Given the description of an element on the screen output the (x, y) to click on. 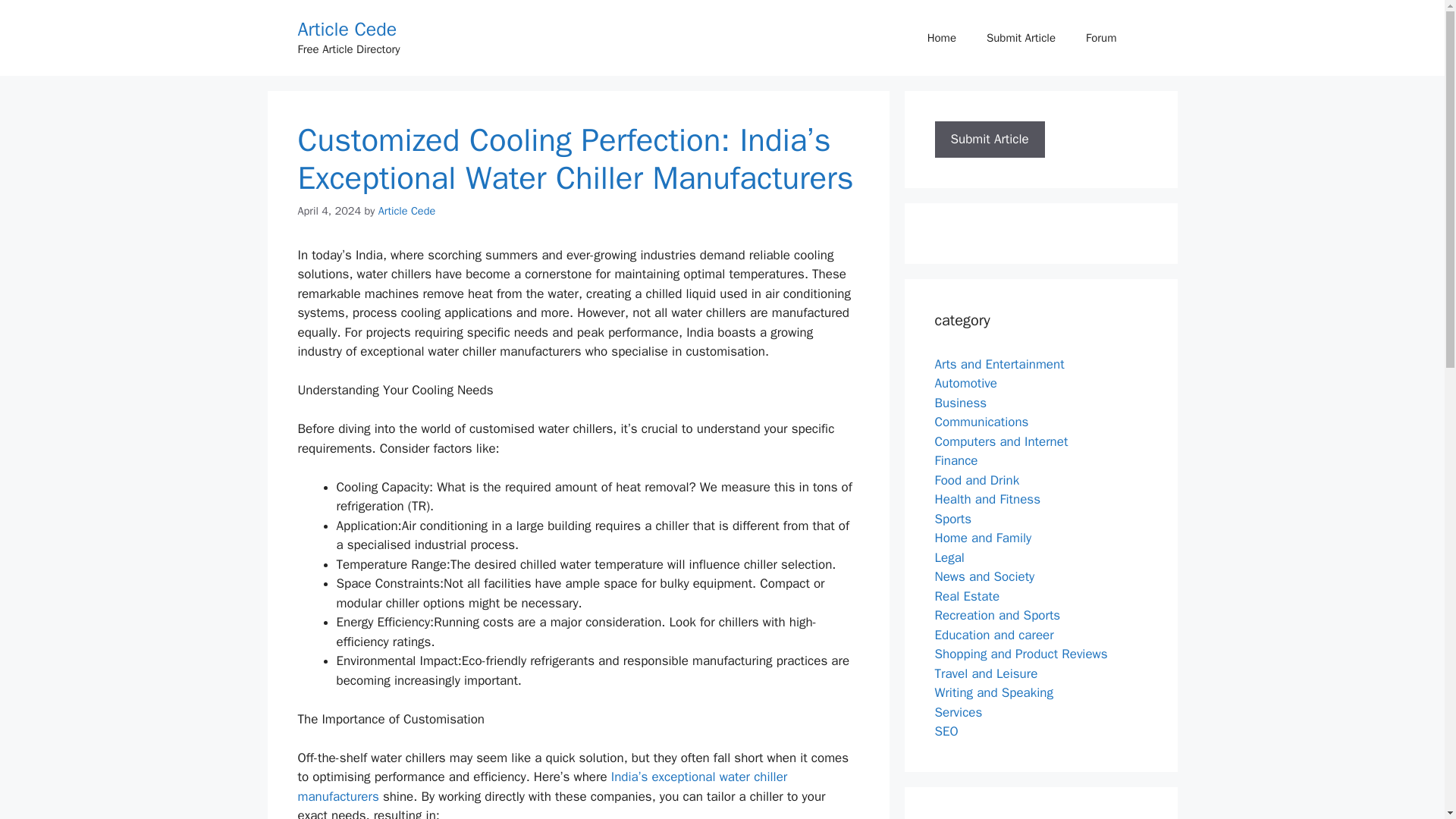
Article Cede (346, 28)
Communications (980, 421)
Sports (952, 519)
Real Estate (966, 596)
Submit Article (1020, 37)
Automotive (965, 383)
Forum (1100, 37)
Business (960, 401)
Computers and Internet (1000, 441)
Services (957, 711)
